Given the description of an element on the screen output the (x, y) to click on. 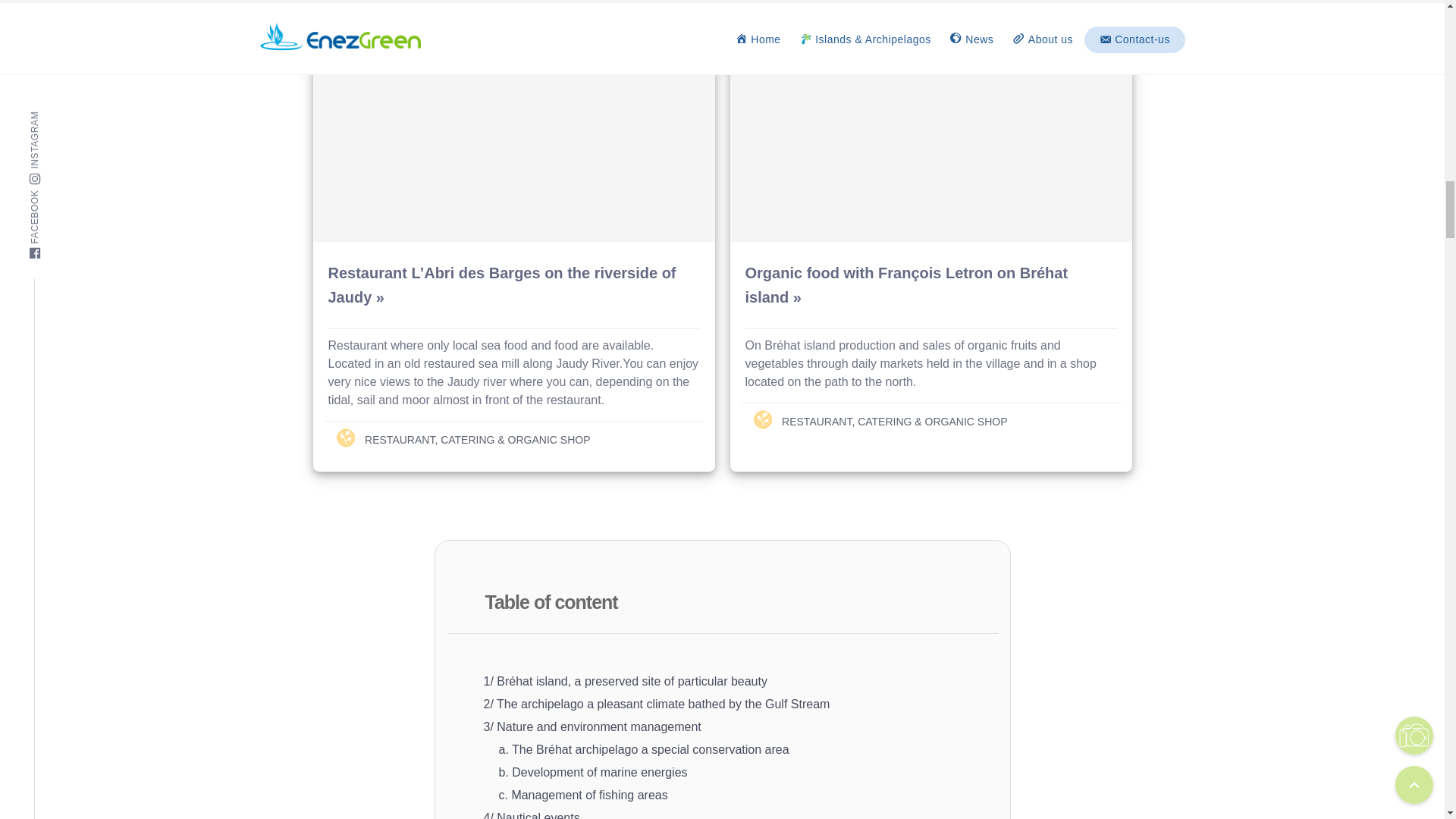
b. Development of marine energies (593, 772)
c. Management of fishing areas (583, 794)
